Given the description of an element on the screen output the (x, y) to click on. 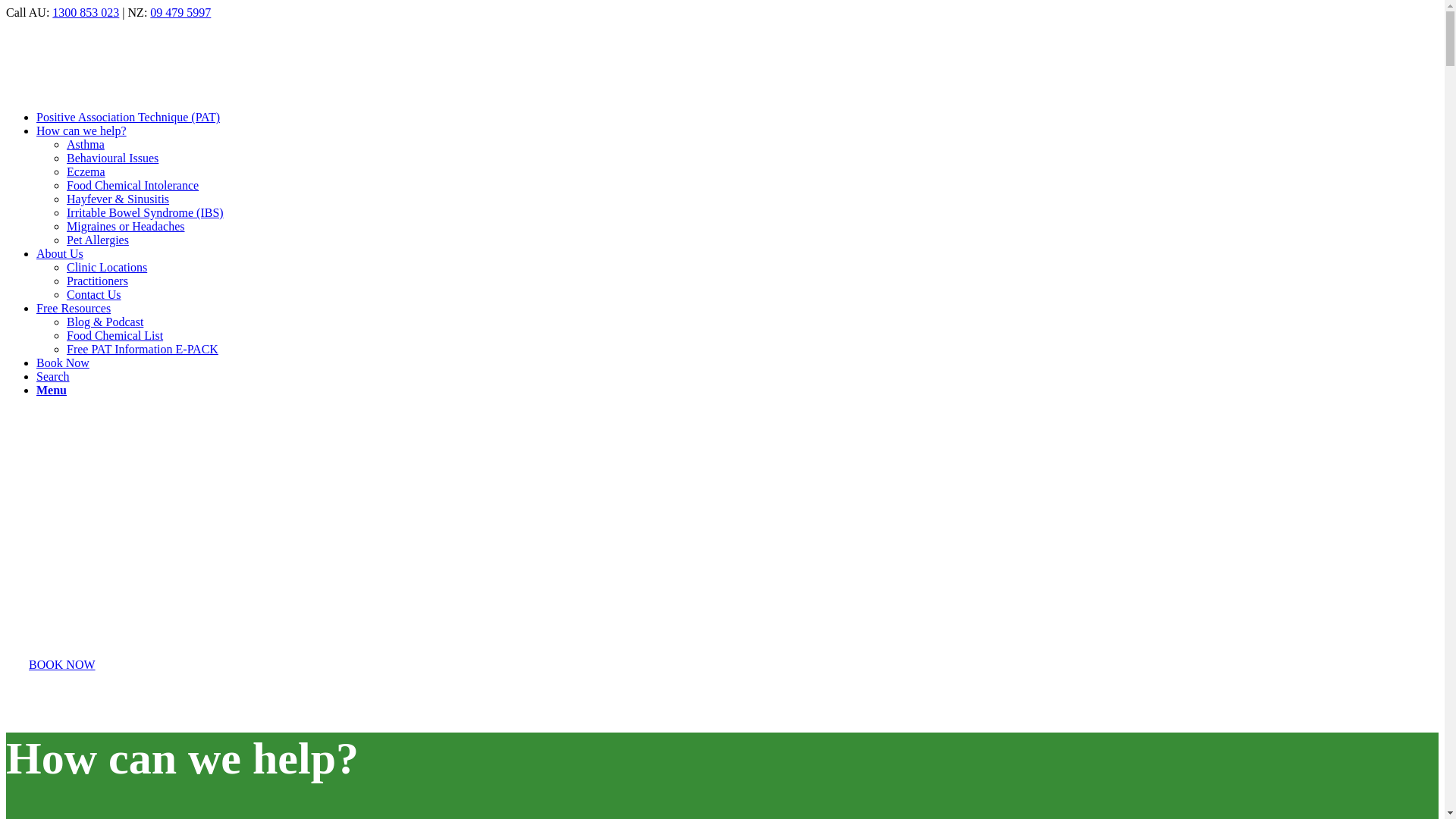
Menu Element type: text (51, 389)
Search Element type: text (52, 376)
09 479 5997 Element type: text (180, 12)
Practitioners Element type: text (97, 280)
Blog & Podcast Element type: text (104, 321)
Eczema Element type: text (85, 171)
Positive Association Technique (PAT) Element type: text (127, 116)
Food Chemical List Element type: text (114, 335)
Free PAT Information E-PACK Element type: text (142, 348)
Hayfever & Sinusitis Element type: text (117, 198)
Pet Allergies Element type: text (97, 239)
Behavioural Issues Element type: text (112, 157)
Migraines or Headaches Element type: text (125, 225)
About Us Element type: text (59, 253)
Contact Us Element type: text (93, 294)
Irritable Bowel Syndrome (IBS) Element type: text (144, 212)
BOOK NOW Element type: text (61, 664)
Food Chemical Intolerance Element type: text (132, 184)
Clinic Locations Element type: text (106, 266)
How can we help? Element type: text (81, 130)
Asthma Element type: text (85, 144)
Book Now Element type: text (62, 362)
1300 853 023 Element type: text (85, 12)
Free Resources Element type: text (73, 307)
